Given the description of an element on the screen output the (x, y) to click on. 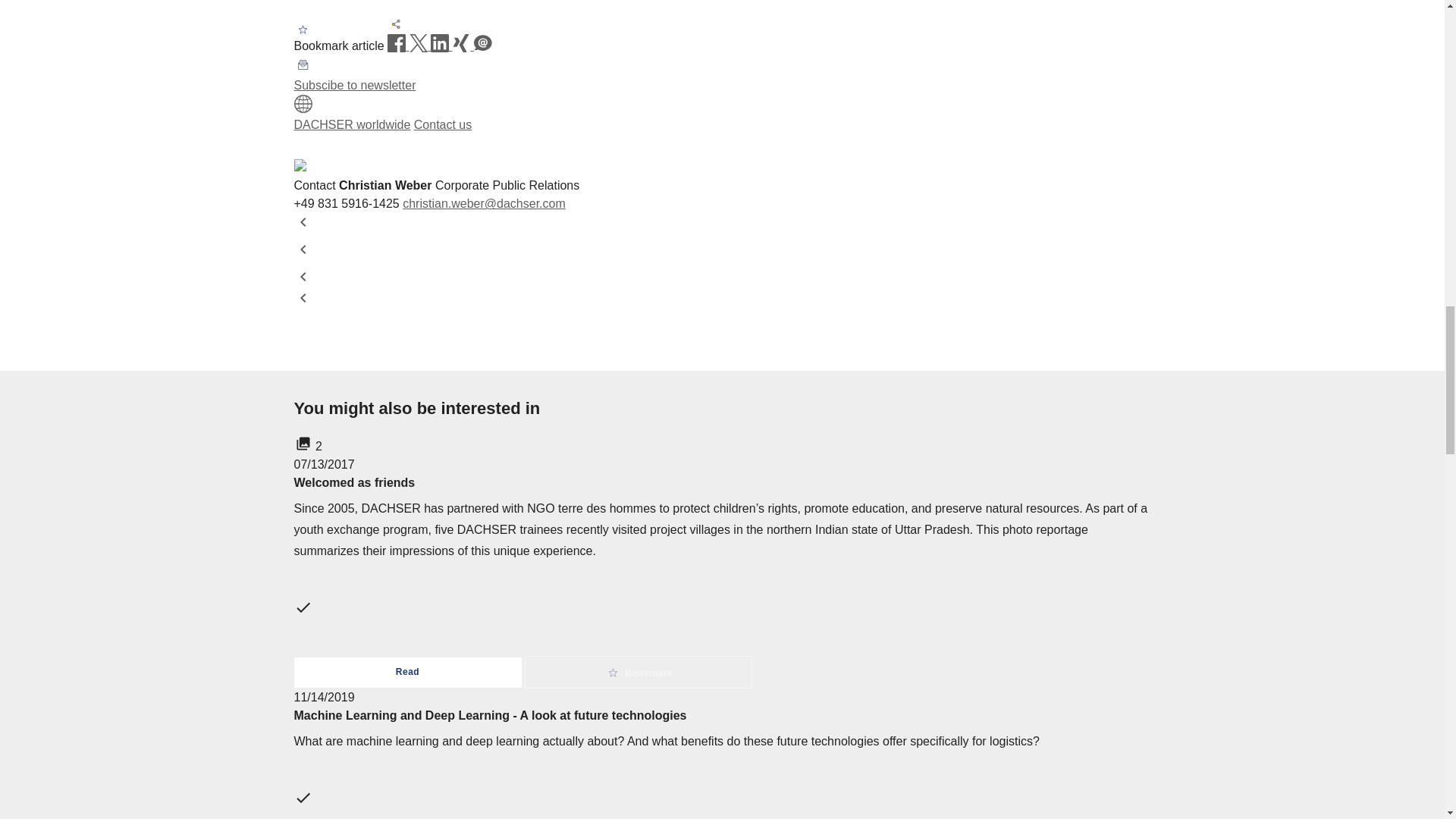
Share on LinkedIn (440, 45)
Share on Xing (462, 45)
Share on twitter (419, 45)
Share on facebook (398, 45)
Send by eMail (483, 45)
